Given the description of an element on the screen output the (x, y) to click on. 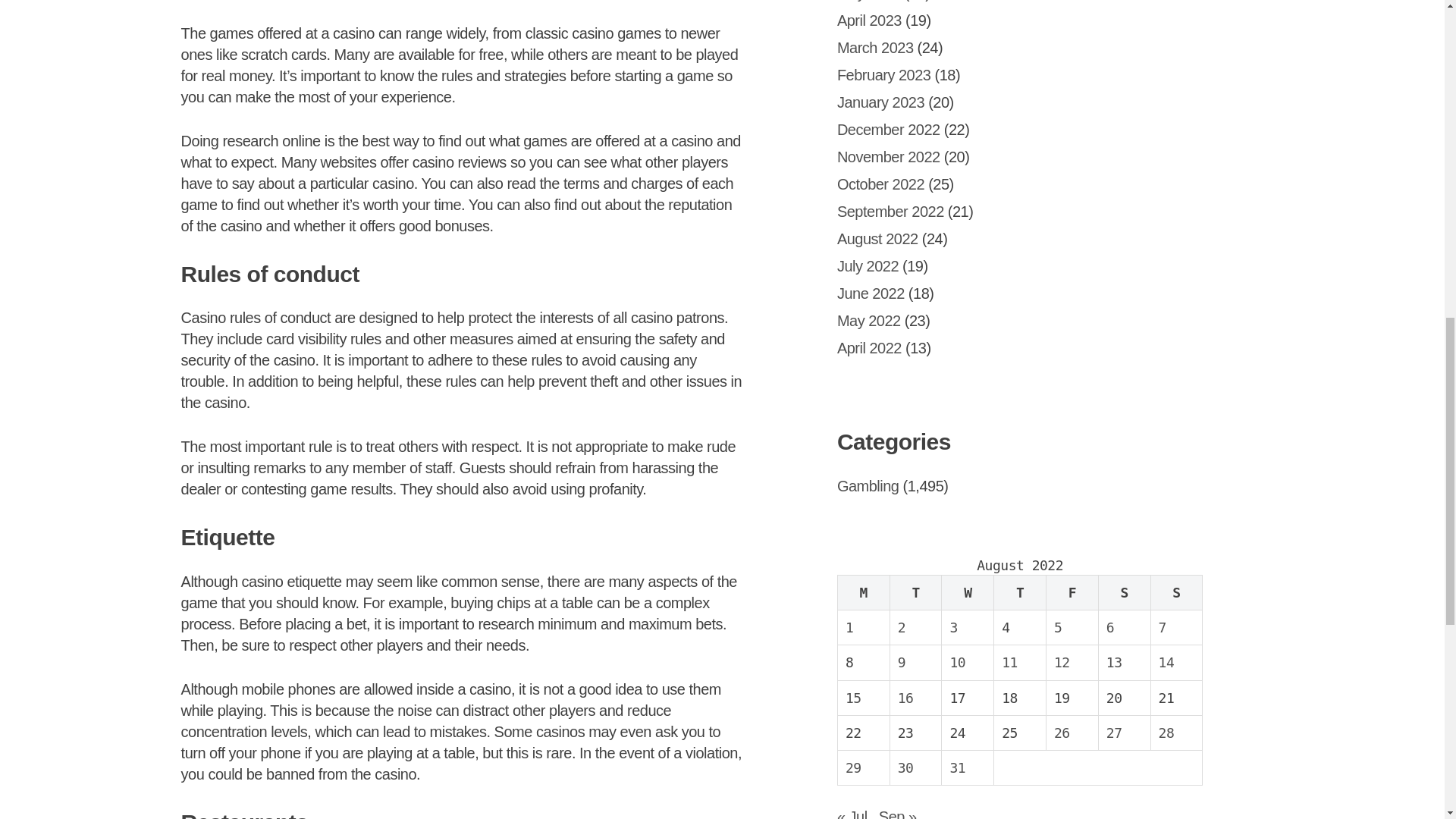
April 2023 (869, 20)
Gambling (868, 485)
September 2022 (890, 211)
November 2022 (888, 156)
April 2022 (869, 347)
December 2022 (888, 129)
Monday (863, 591)
August 2022 (877, 238)
October 2022 (880, 184)
Wednesday (968, 591)
May 2023 (869, 0)
May 2022 (869, 320)
July 2022 (867, 265)
Saturday (1123, 591)
Friday (1072, 591)
